Given the description of an element on the screen output the (x, y) to click on. 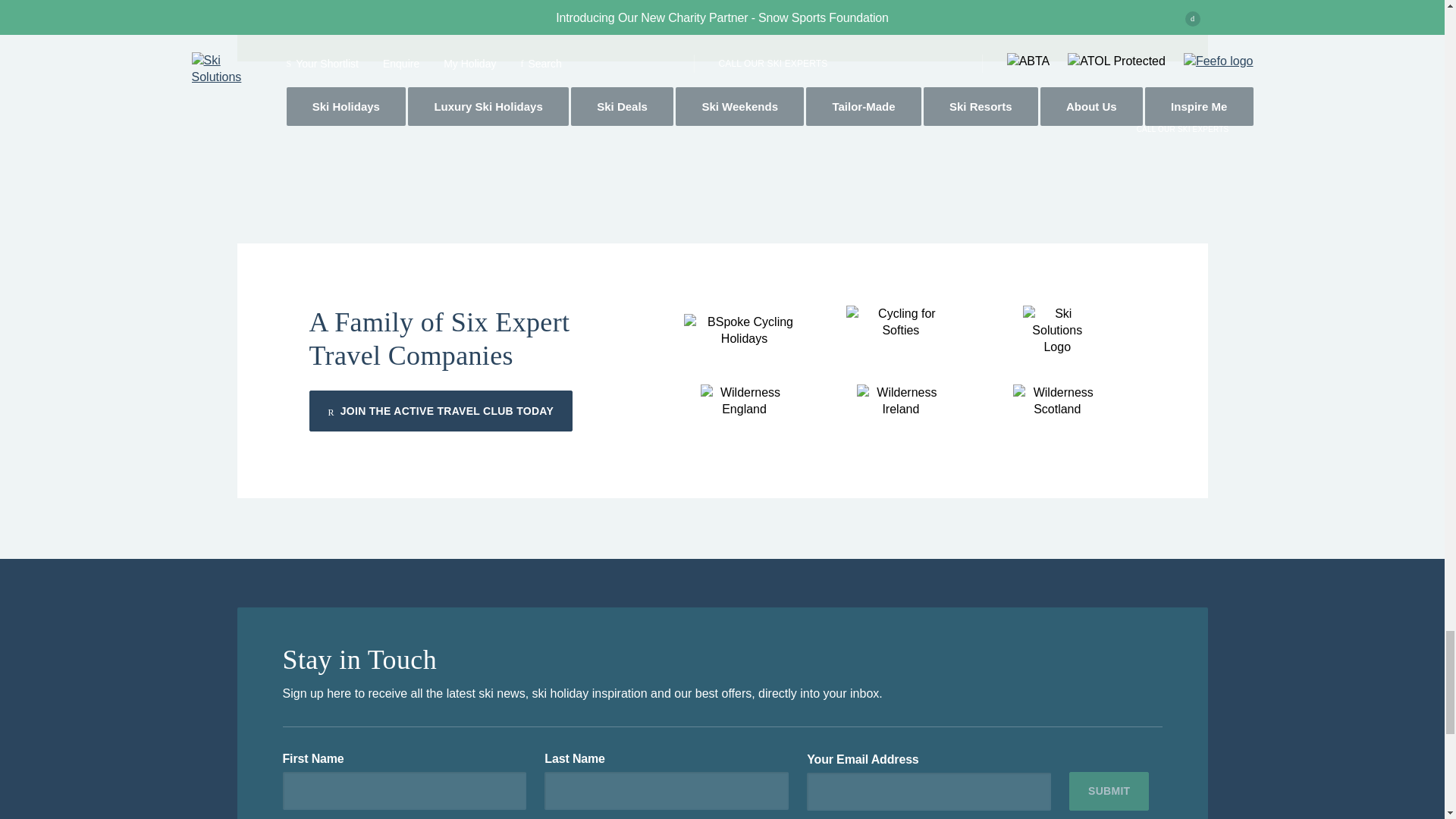
Submit (1108, 791)
